Given the description of an element on the screen output the (x, y) to click on. 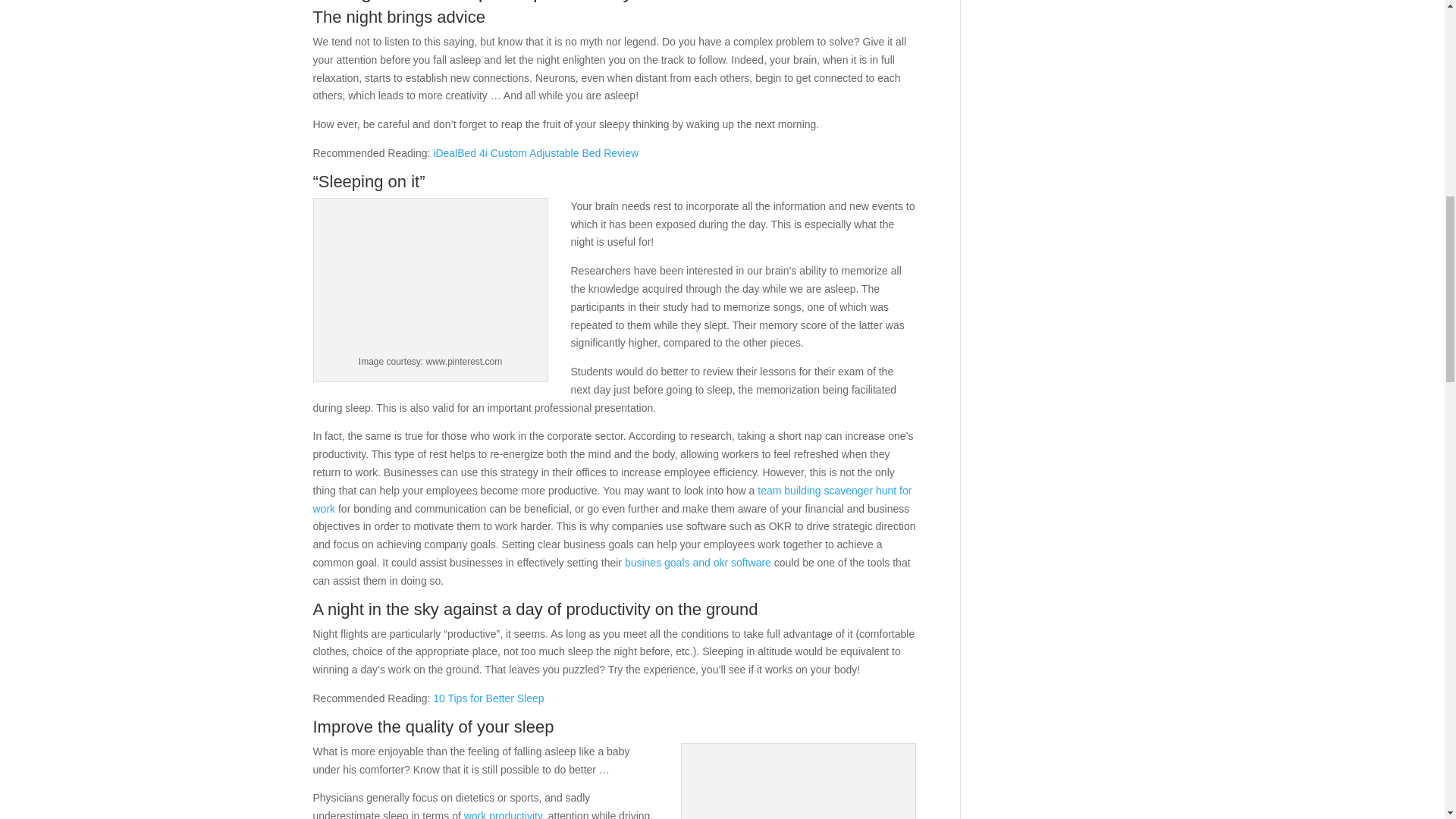
work productivity (502, 814)
team building scavenger hunt for work (612, 499)
busines goals and okr software (697, 562)
iDealBed 4i Custom Adjustable Bed Review (535, 152)
10 Tips for Better Sleep (487, 698)
